Given the description of an element on the screen output the (x, y) to click on. 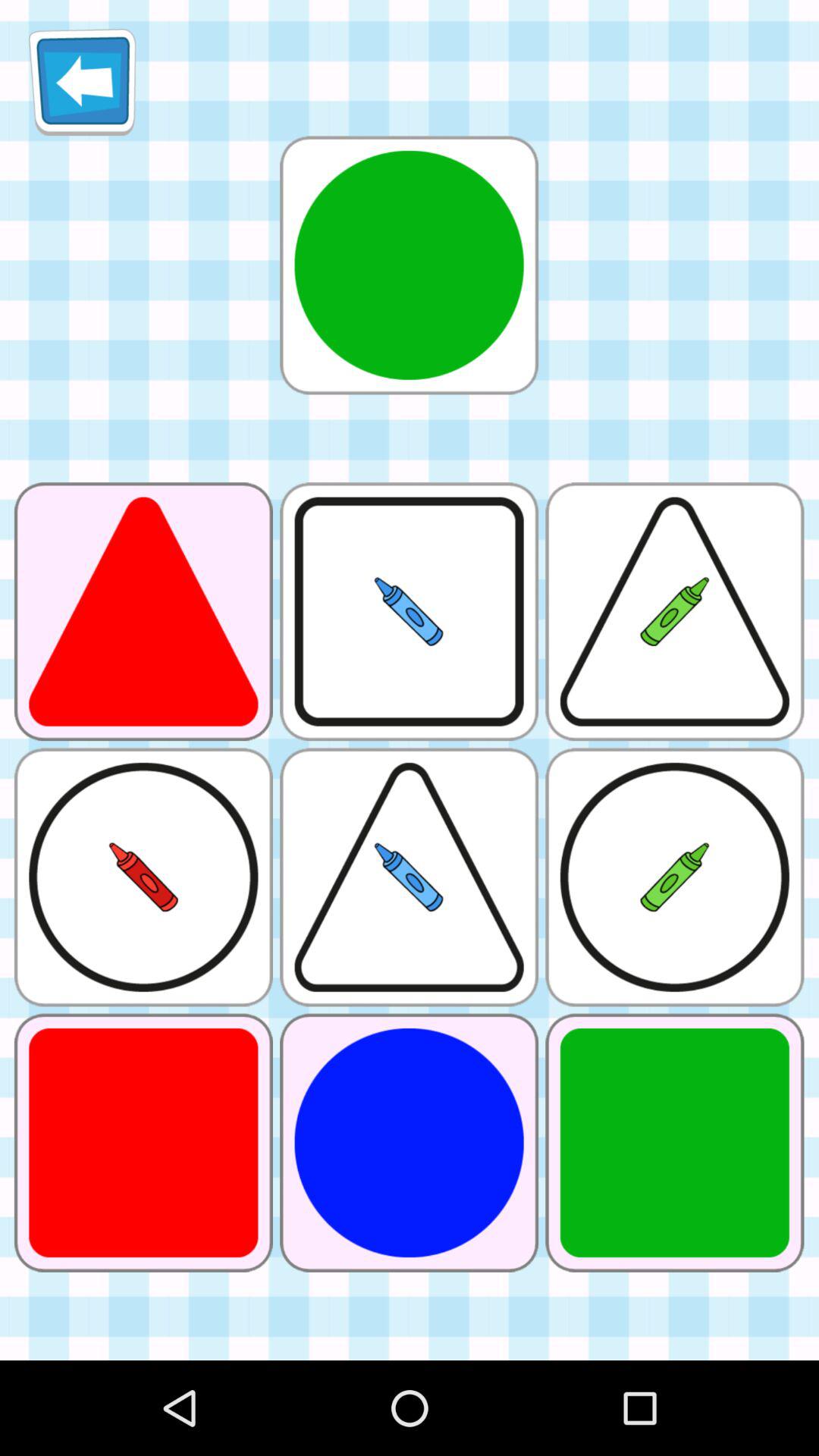
back button (82, 82)
